Given the description of an element on the screen output the (x, y) to click on. 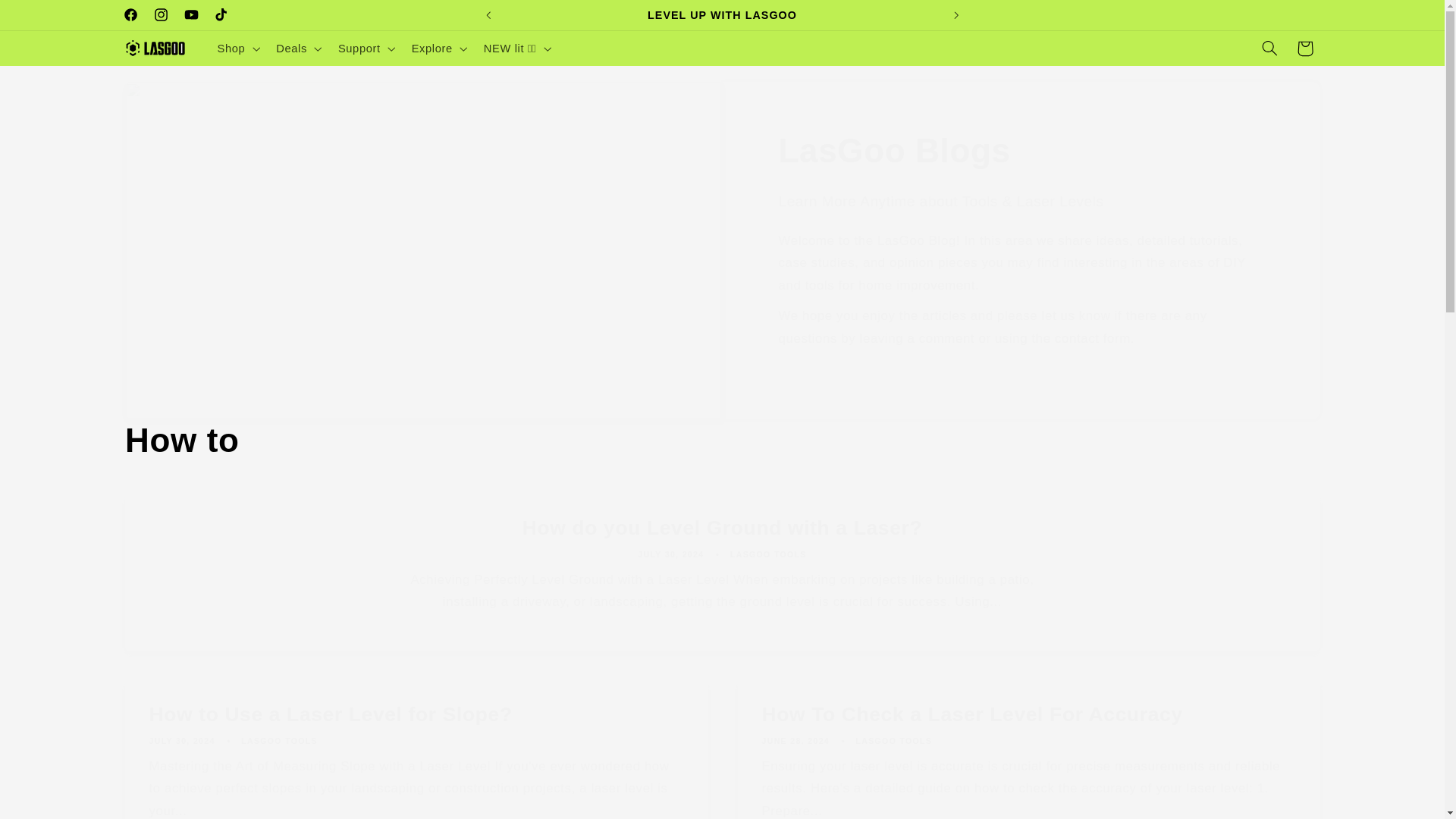
How to (722, 440)
TikTok (220, 15)
Facebook (130, 15)
Skip to content (48, 18)
YouTube (191, 15)
Instagram (160, 15)
